Given the description of an element on the screen output the (x, y) to click on. 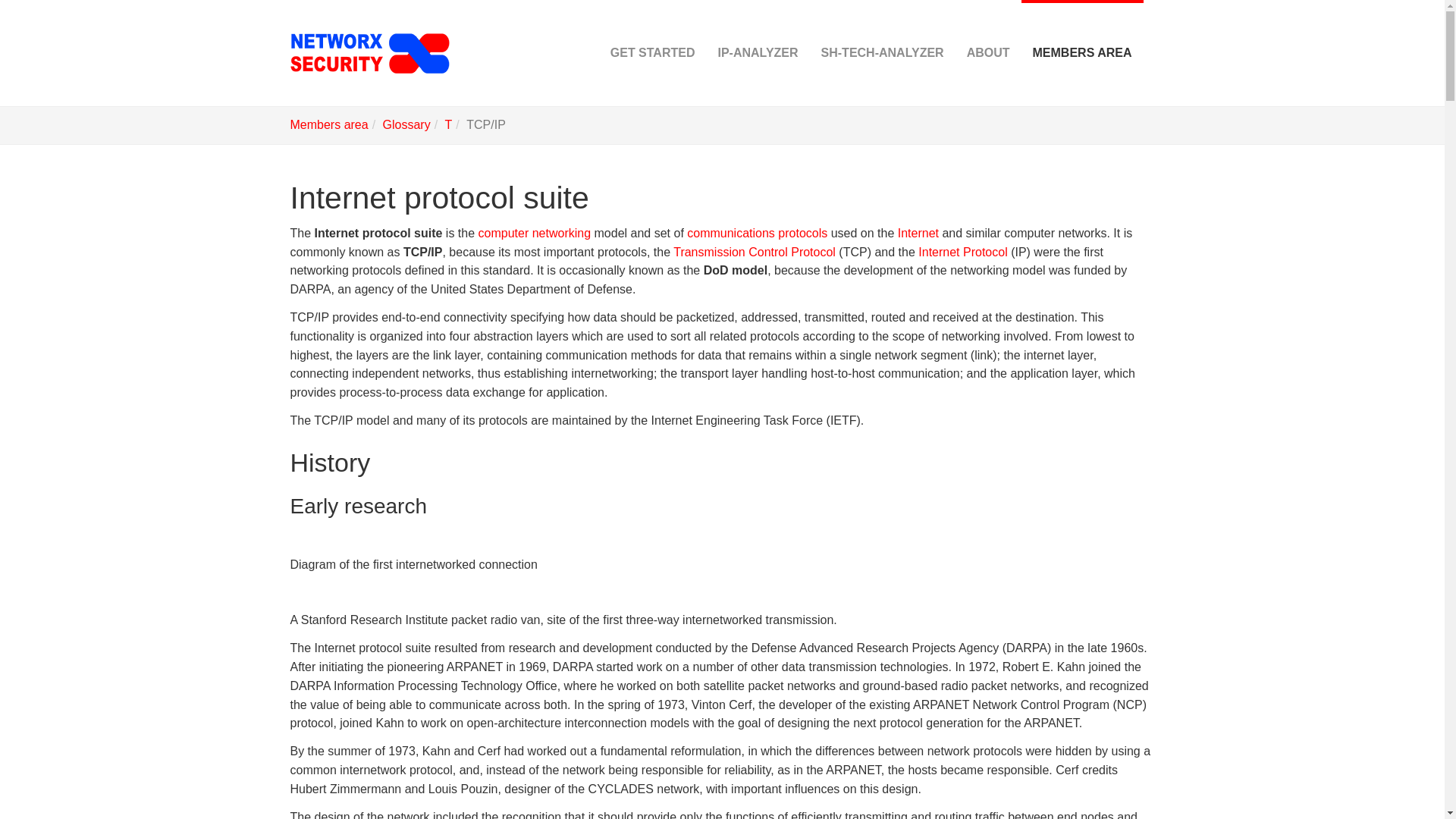
Internet (918, 232)
GET STARTED (652, 53)
Glossary (406, 124)
Members area (328, 124)
MEMBERS AREA (1082, 53)
Transmission Control Protocol (753, 251)
Glossary (406, 124)
Internet Protocol (962, 251)
communications protocols (757, 232)
IP-Analyzer (757, 53)
Members area (328, 124)
SH-TECH-ANALYZER (882, 53)
computer networking (535, 232)
IP-ANALYZER (757, 53)
get started (652, 53)
